Given the description of an element on the screen output the (x, y) to click on. 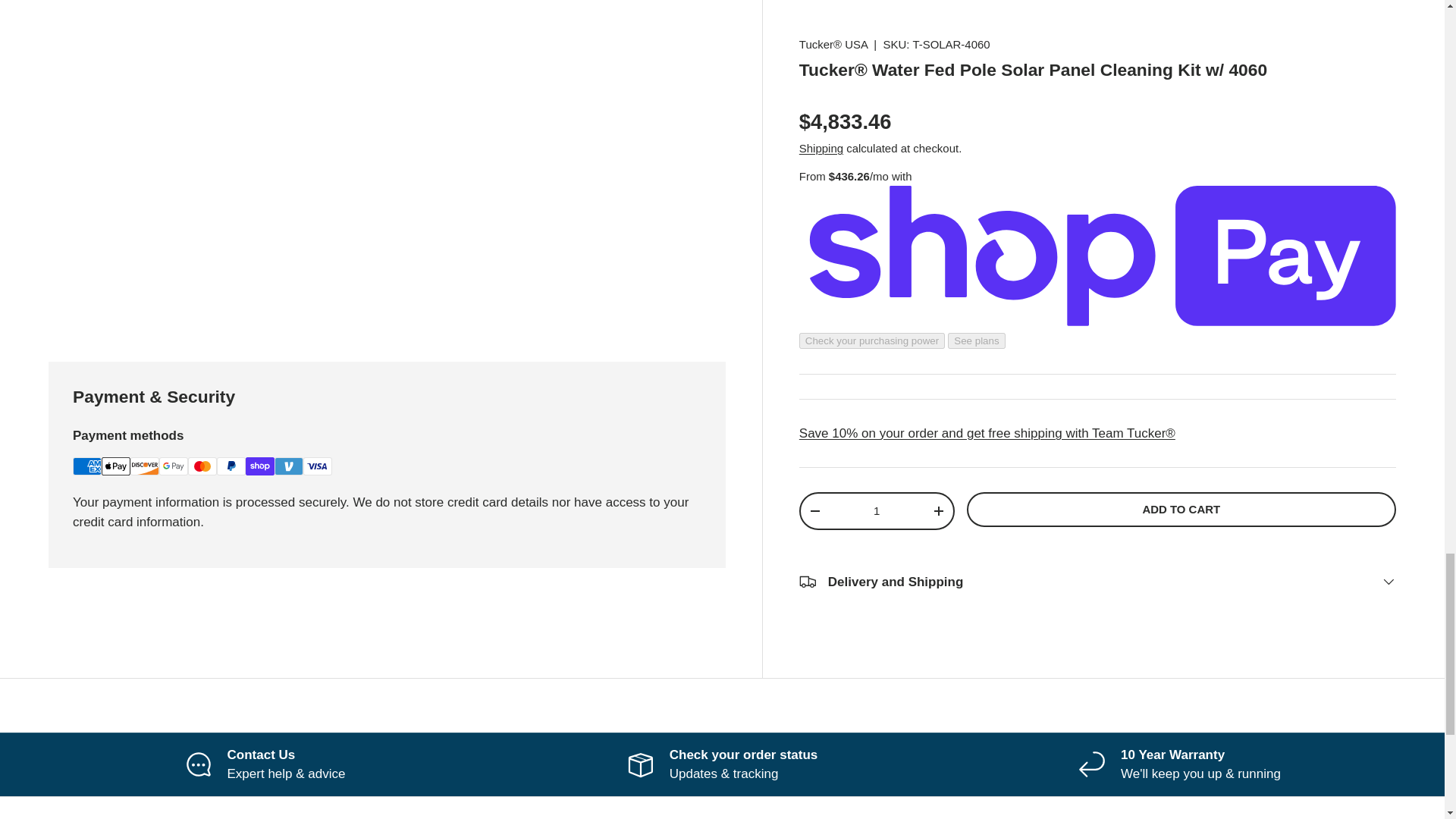
Setting Up A Drop Zone (137, 42)
Apple Pay (116, 466)
American Express (86, 466)
Discover (144, 466)
